Given the description of an element on the screen output the (x, y) to click on. 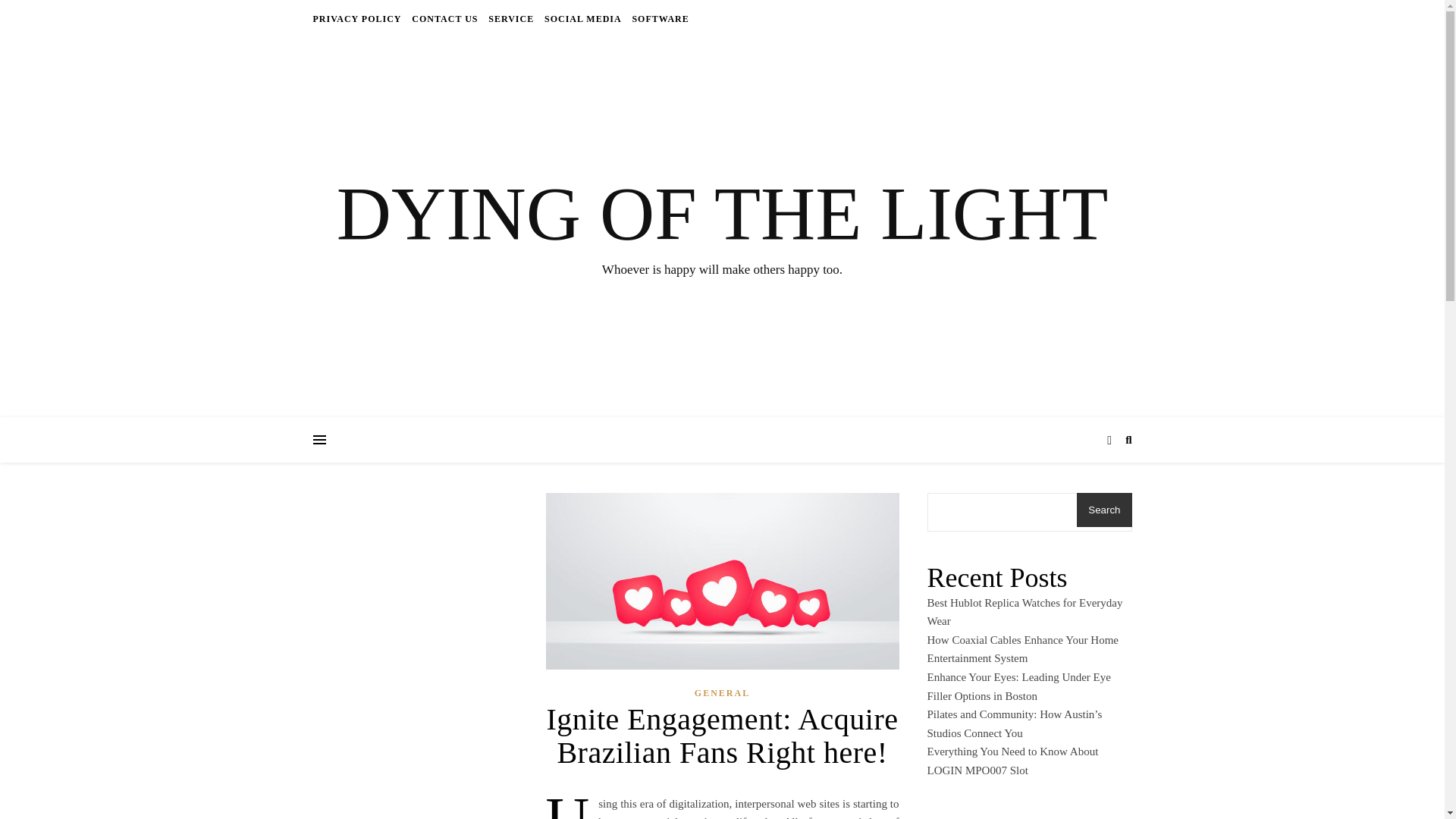
GENERAL (721, 692)
Everything You Need to Know About LOGIN MPO007 Slot (1011, 760)
Best Hublot Replica Watches for Everyday Wear (1024, 612)
PRIVACY POLICY (358, 18)
Search (1104, 510)
CONTACT US (444, 18)
SOCIAL MEDIA (583, 18)
SERVICE (510, 18)
How Coaxial Cables Enhance Your Home Entertainment System (1022, 649)
